Given the description of an element on the screen output the (x, y) to click on. 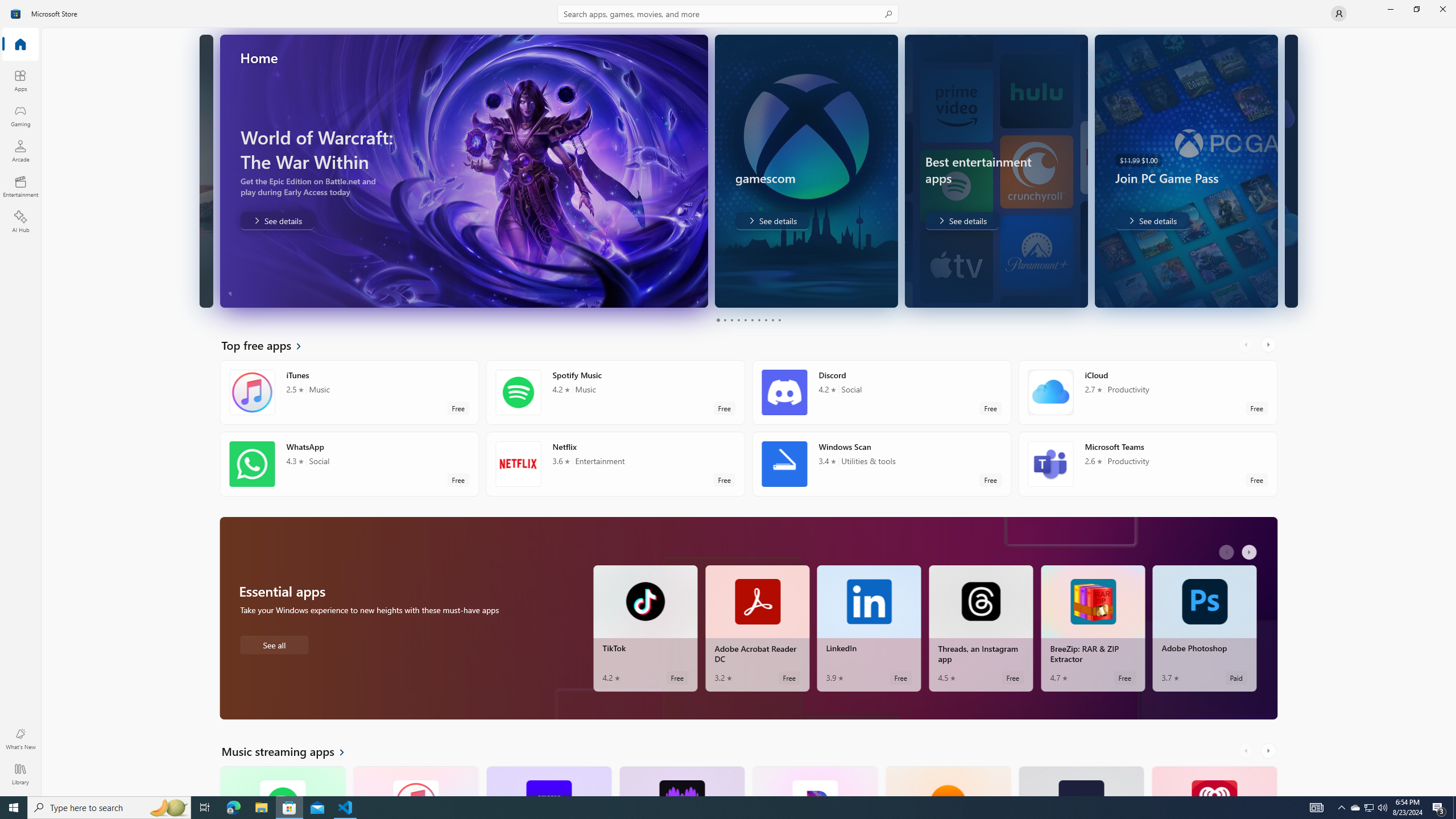
See all  Music streaming apps (289, 750)
LinkedIn. Average rating of 3.9 out of five stars. Free   (868, 628)
Page 7 (758, 319)
AutomationID: Image (1284, 170)
AutomationID: LeftScrollButton (1246, 750)
See all  Top free apps (268, 345)
Pandora. Average rating of 4.5 out of five stars. Free   (814, 780)
Page 6 (751, 319)
